Given the description of an element on the screen output the (x, y) to click on. 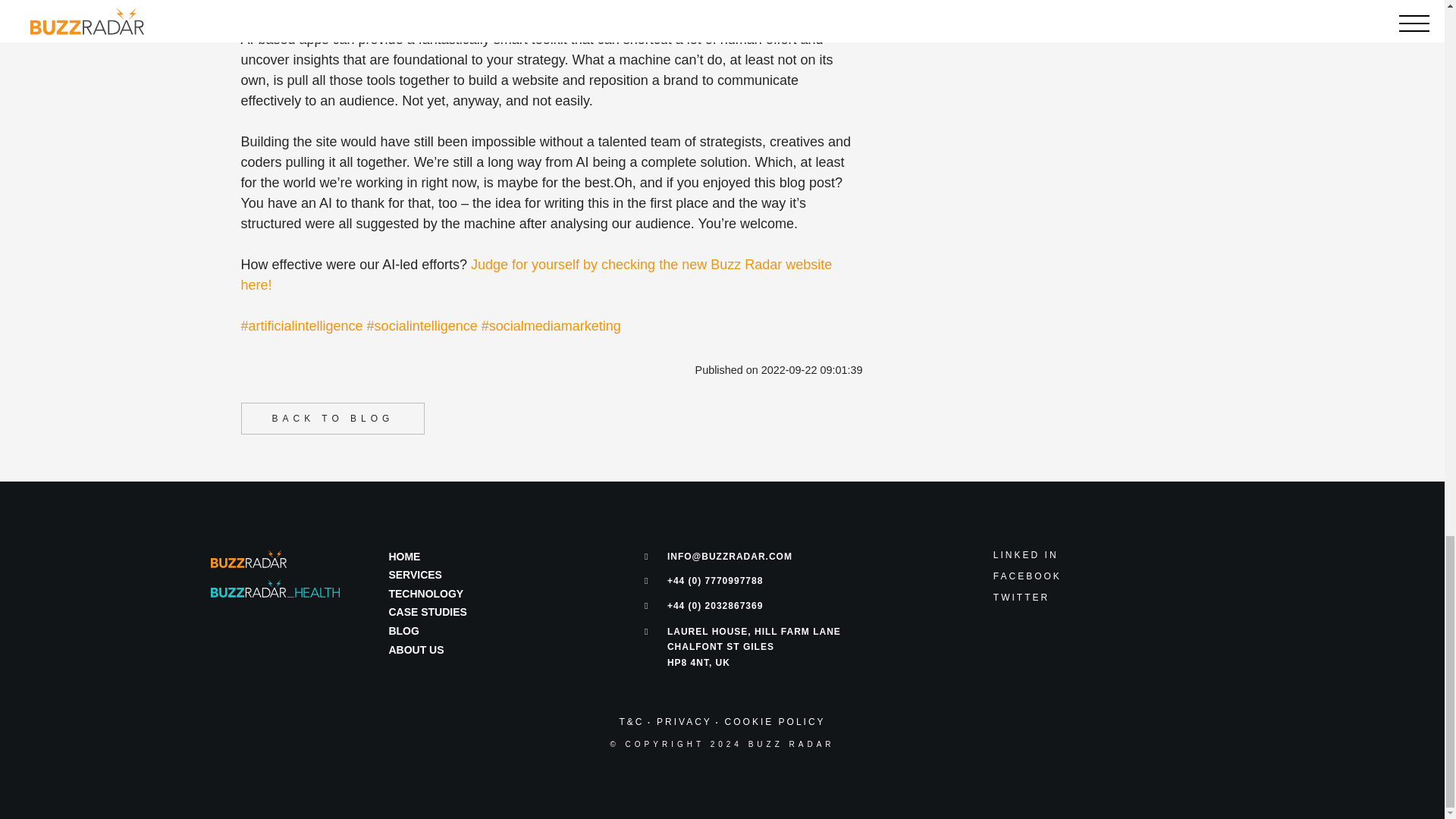
BACK TO BLOG (332, 418)
